Given the description of an element on the screen output the (x, y) to click on. 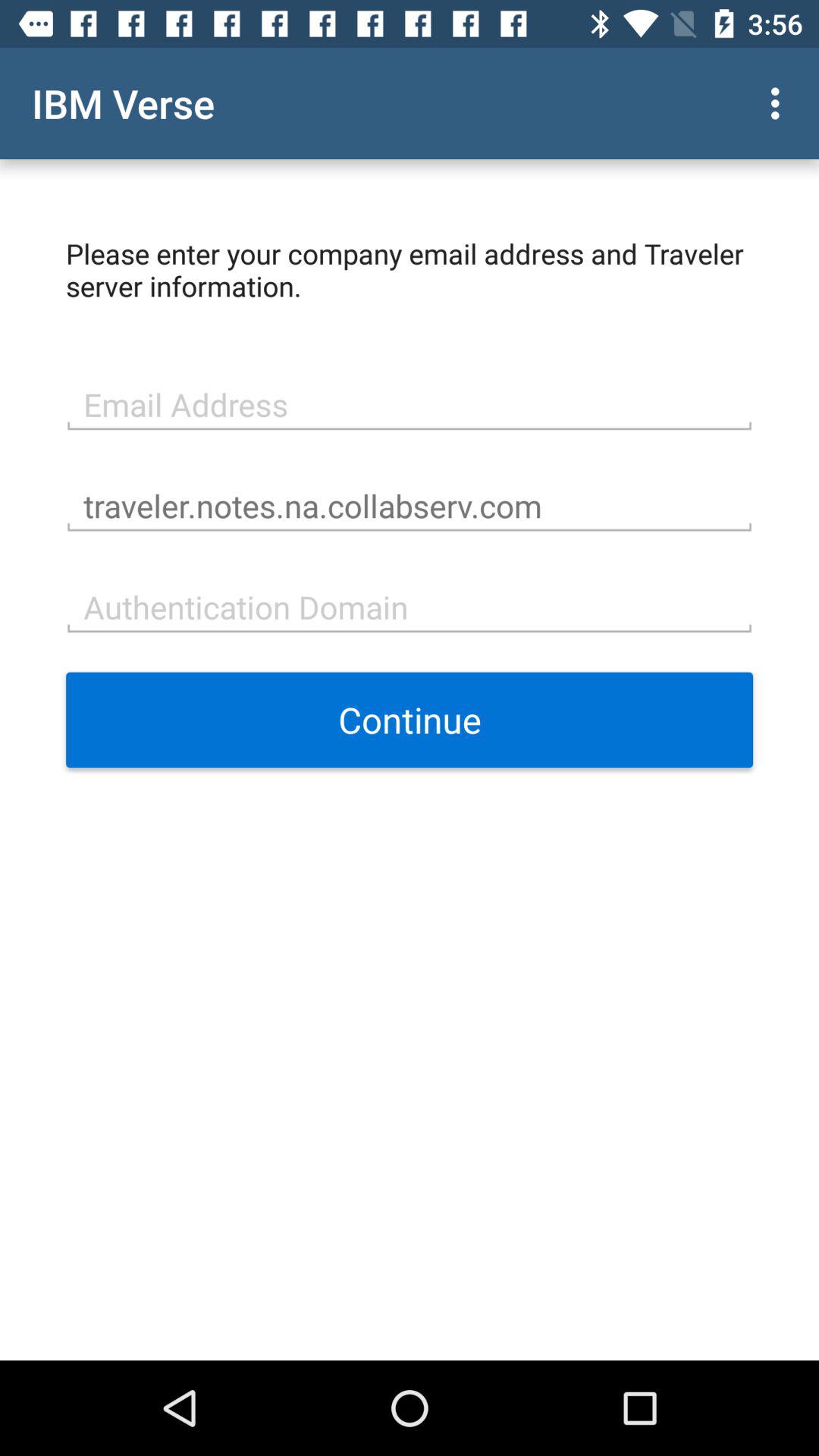
launch traveler notes na (409, 504)
